Given the description of an element on the screen output the (x, y) to click on. 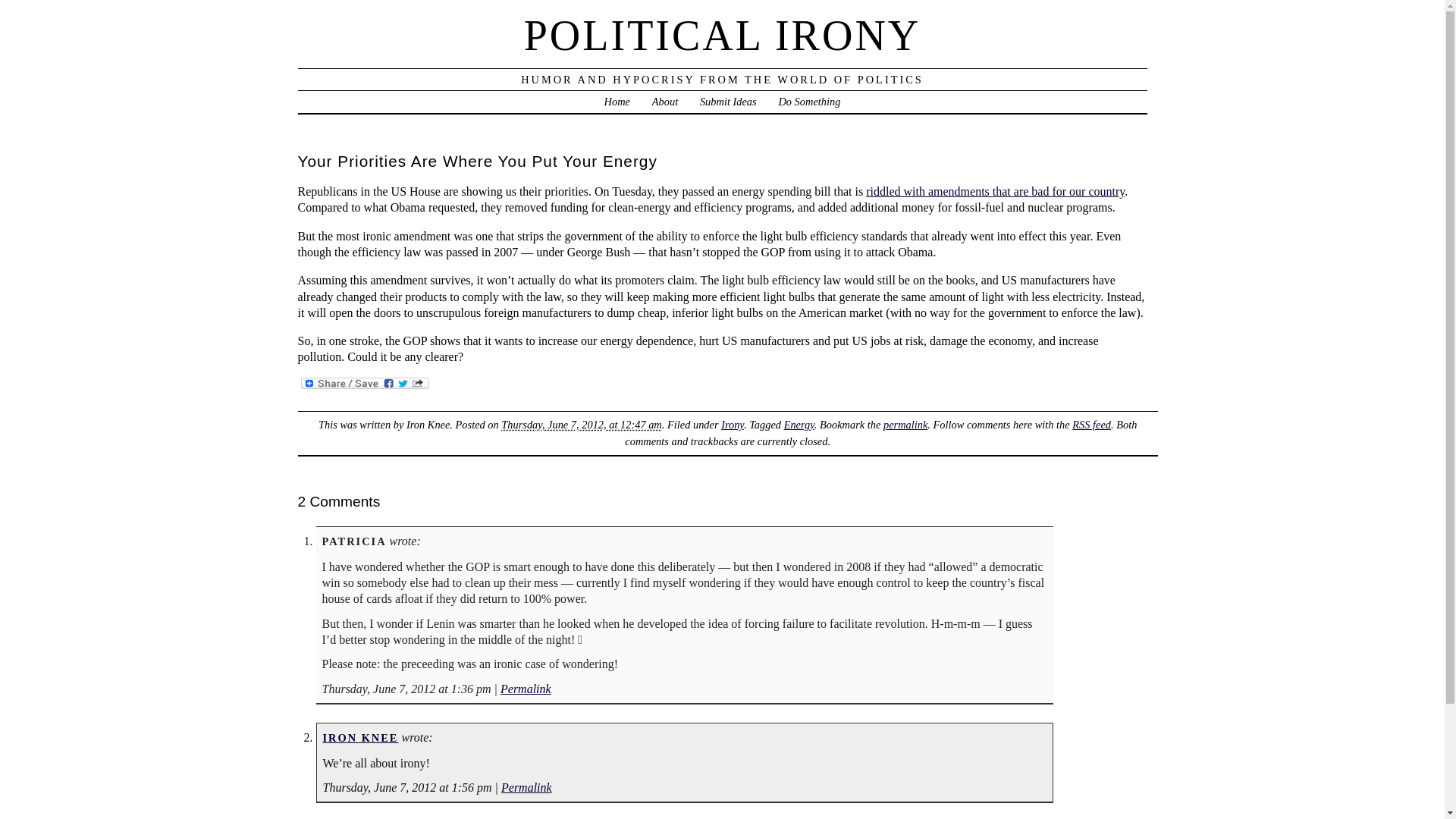
2012-06-07T00:47:02-0600 (580, 424)
riddled with amendments that are bad for our country (995, 191)
Irony (732, 424)
Do Something (808, 101)
Permalink (525, 688)
Home (617, 101)
RSS feed (1090, 424)
permalink (905, 424)
Permalink to this comment (525, 688)
Submit Ideas (728, 101)
Permalink to this comment (525, 787)
Political Irony (722, 35)
Political Irony (617, 101)
About (665, 101)
